Given the description of an element on the screen output the (x, y) to click on. 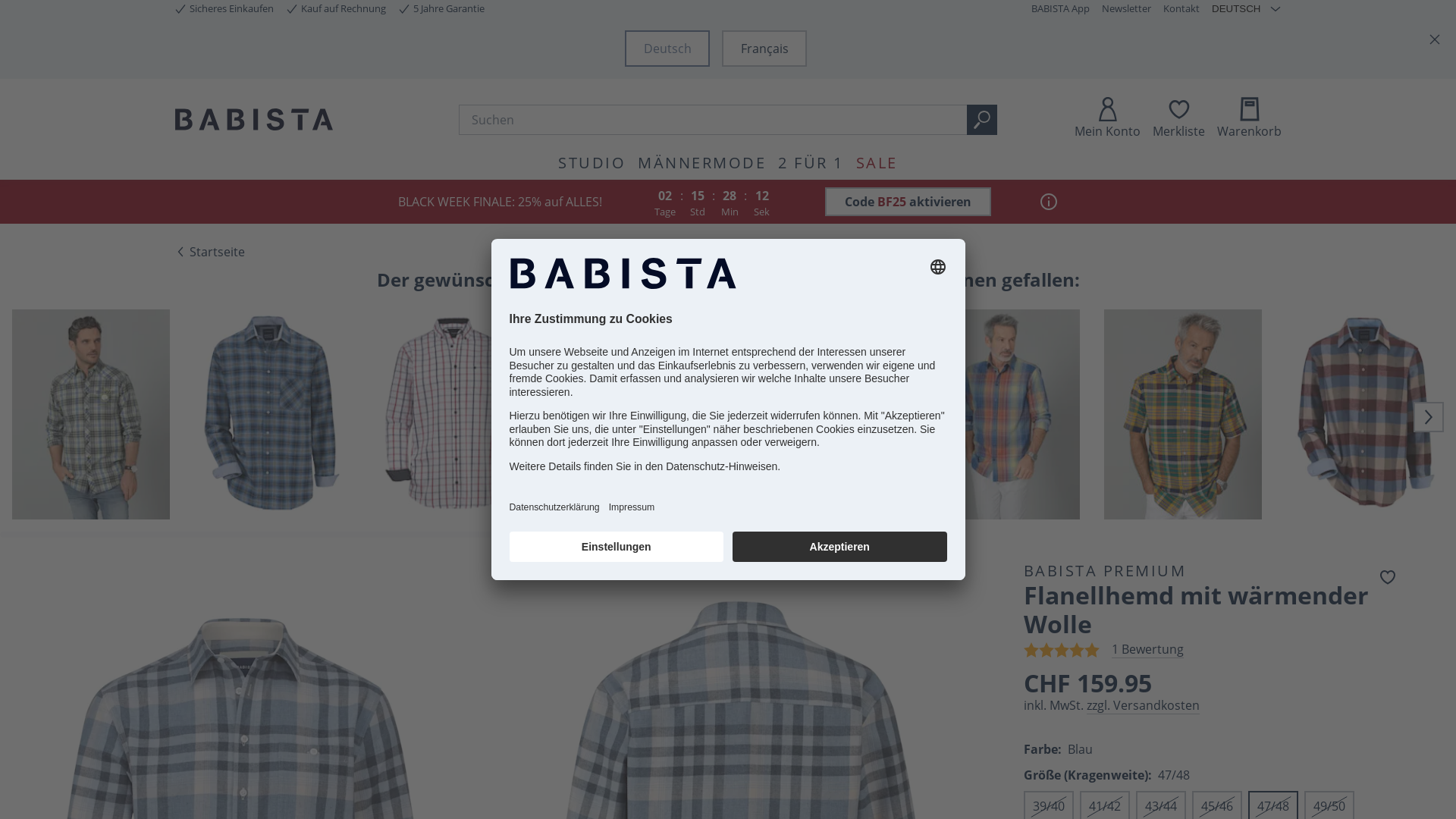
Mein Konto Element type: text (1107, 119)
SALE Element type: text (876, 162)
Startseite Element type: text (209, 251)
Code 
BF25
 aktivieren Element type: text (908, 201)
Merkliste Element type: text (1178, 119)
Auf die Merkliste Element type: hover (1387, 576)
1 Bewertung Element type: text (1147, 649)
zzgl. Versandkosten Element type: text (1142, 705)
Newsletter Element type: text (1126, 8)
Kontakt Element type: text (1181, 8)
STUDIO Element type: text (591, 162)
BABISTA App Element type: text (1060, 8)
Deutsch Element type: text (666, 48)
Warenkorb Element type: text (1249, 119)
